Given the description of an element on the screen output the (x, y) to click on. 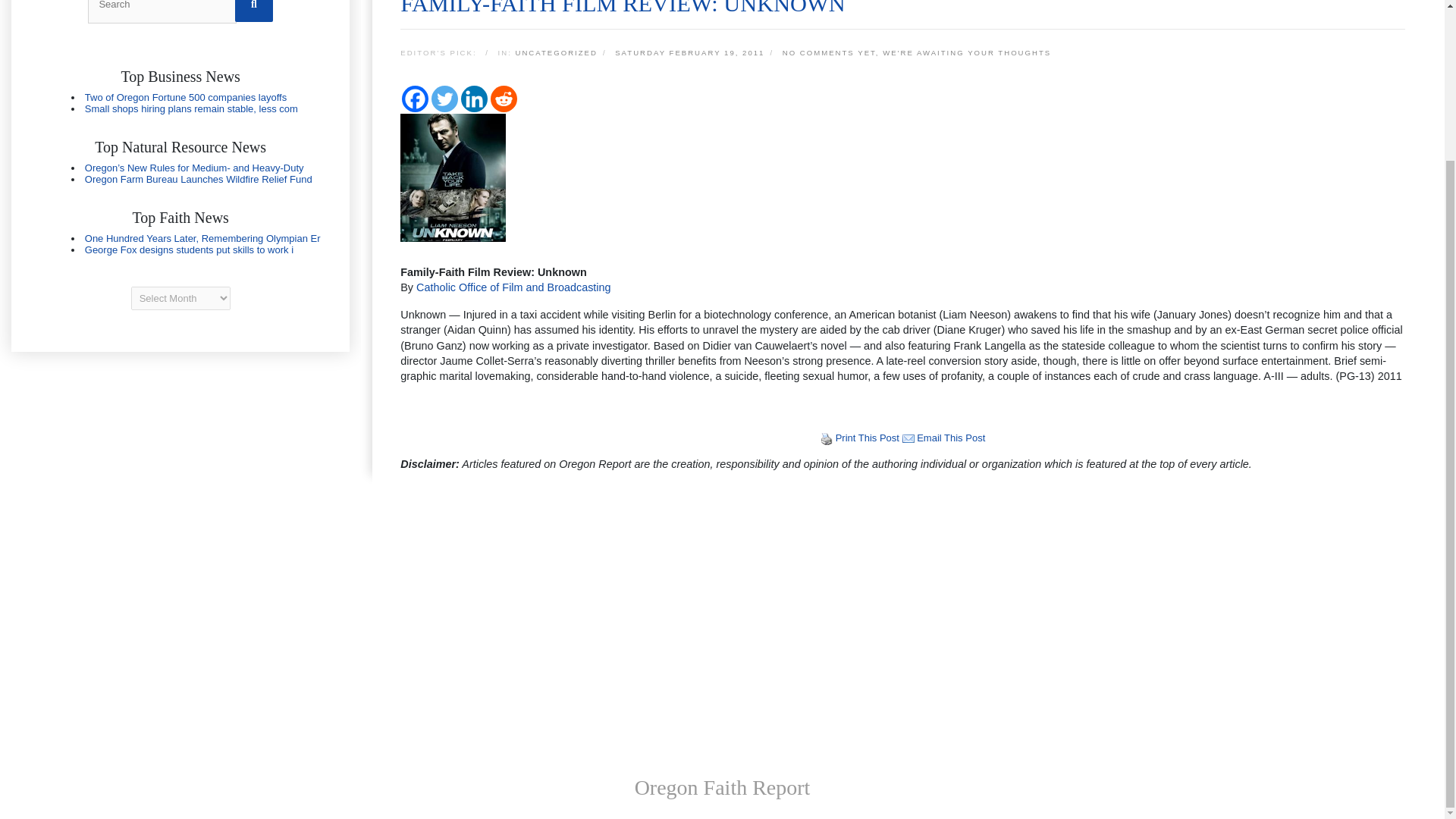
Small shops hiring plans remain stable, less com (191, 108)
Two of Oregon Fortune 500 companies layoffs (185, 97)
Two of Oregon Fortune 500 companies layoffs (185, 97)
Catholic Office of Film and Broadcasting (513, 287)
One Hundred Years Later, Remembering Olympian Er (202, 238)
Print This Post (867, 437)
Oregon Farm Bureau Launches Wildfire Relief Fund (198, 179)
Print This Post (867, 437)
George Fox designs students put skills to work i (189, 249)
Oregon Faith Report (722, 787)
